Given the description of an element on the screen output the (x, y) to click on. 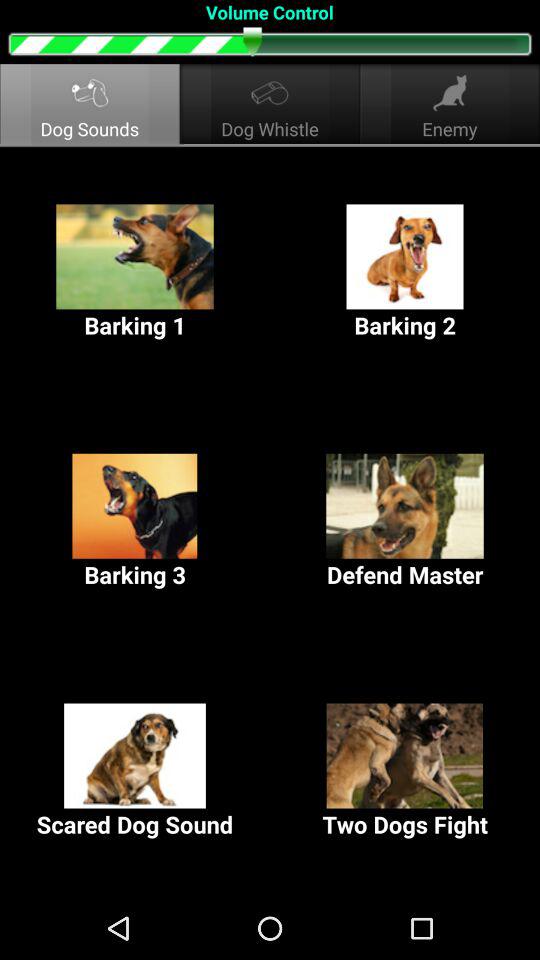
flip to scared dog sound (135, 771)
